Given the description of an element on the screen output the (x, y) to click on. 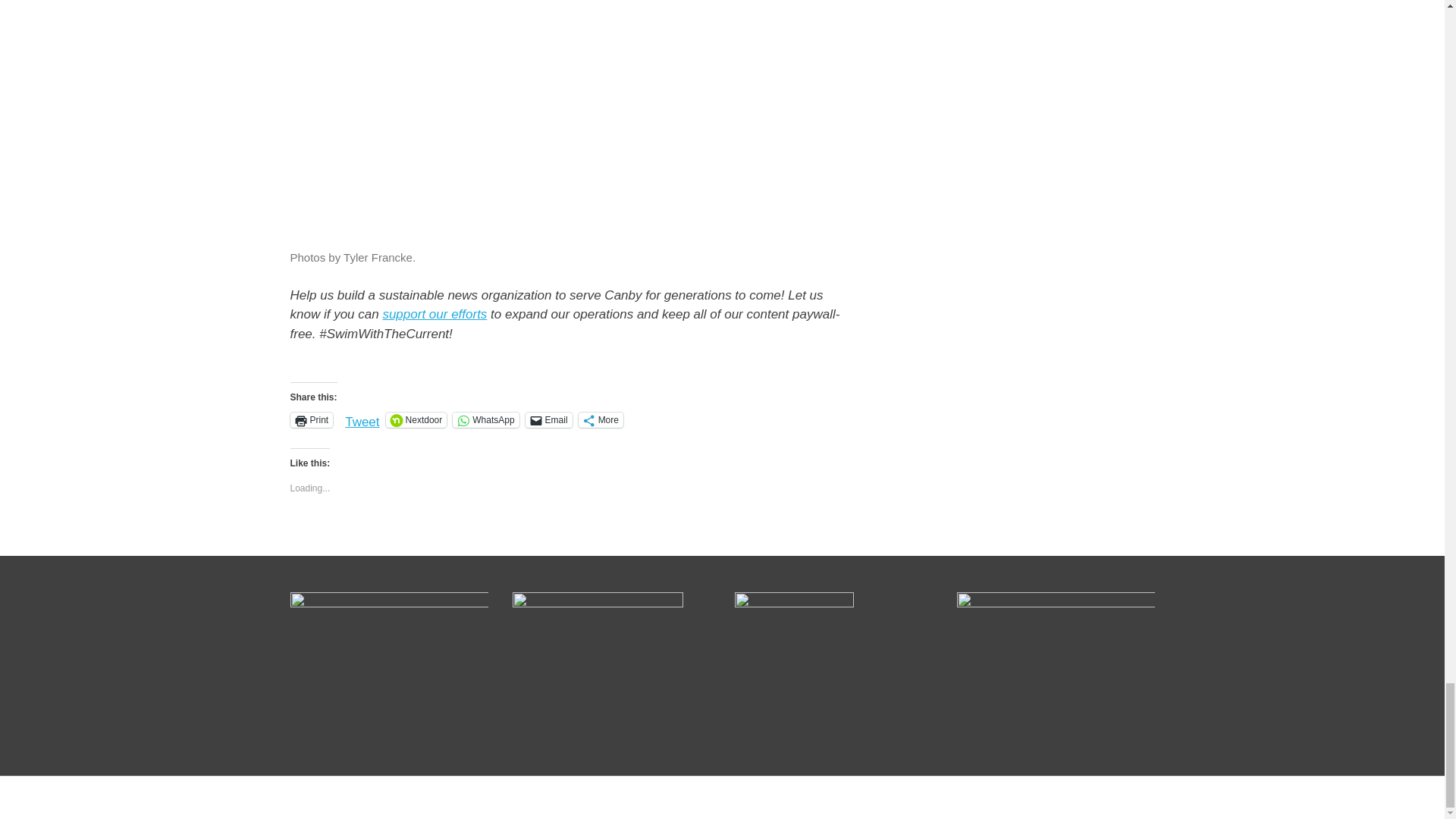
Click to share on WhatsApp (485, 419)
Click to share on Nextdoor (415, 419)
Click to email a link to a friend (548, 419)
Click to print (311, 419)
